Given the description of an element on the screen output the (x, y) to click on. 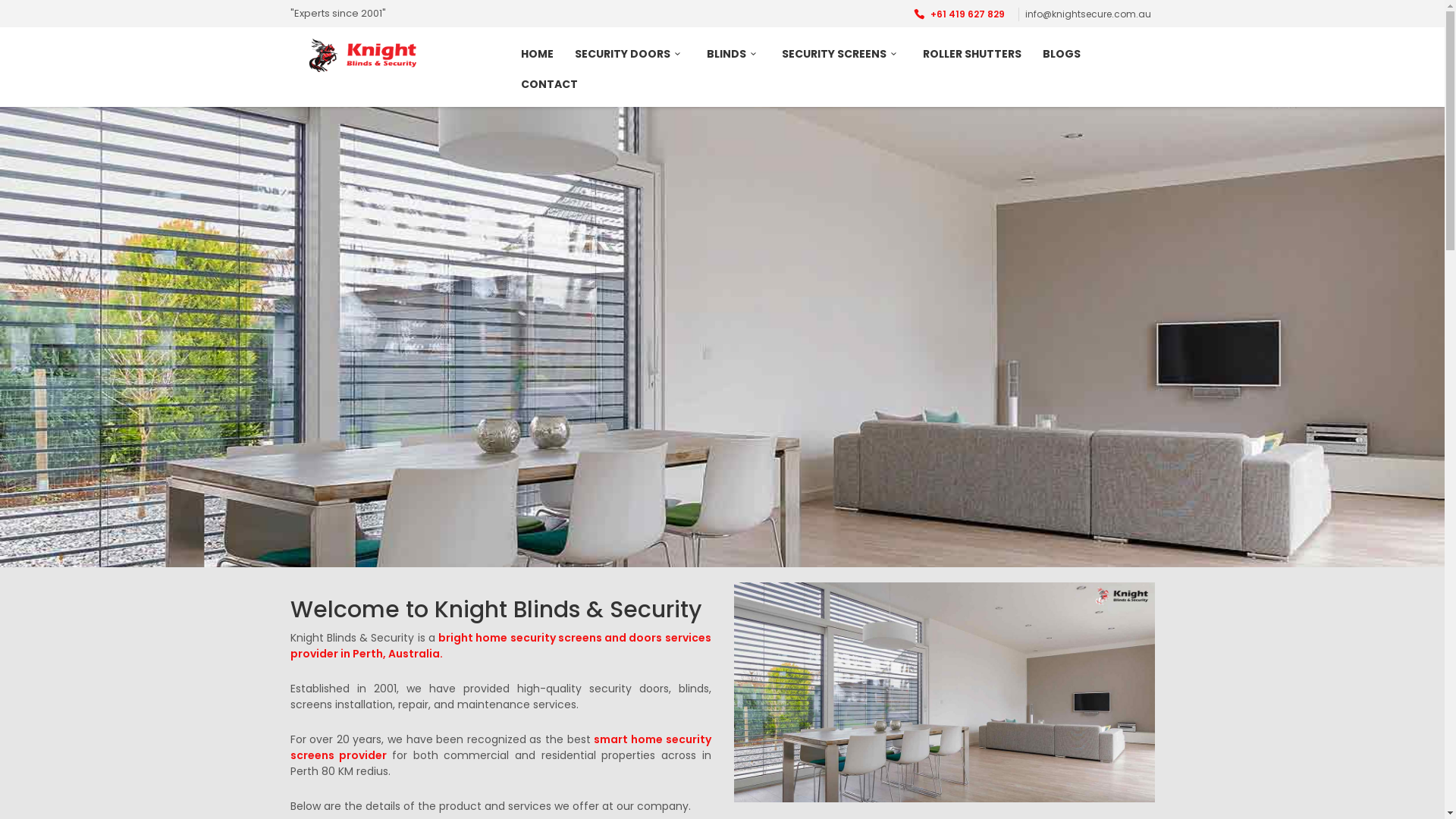
SECURITY SCREENS Element type: text (707, 681)
ROLLER SHUTTERS Element type: text (971, 61)
BLINDS Element type: text (733, 61)
CONTACT Element type: text (548, 91)
info@knightsecure.com.au Element type: text (1088, 13)
SECURITY DOORS Element type: text (704, 649)
SECURITY SCREENS Element type: text (841, 61)
(08) 9471 1333 Element type: text (941, 696)
Contacts Element type: text (684, 697)
BLOGS Element type: text (1061, 61)
READ MORE Element type: text (379, 394)
HOME Element type: text (536, 61)
+61 419 627 829 Element type: text (958, 13)
info@knightsecure.com.au Element type: text (975, 727)
BLINDS Element type: text (676, 665)
SECURITY DOORS Element type: text (629, 61)
